Given the description of an element on the screen output the (x, y) to click on. 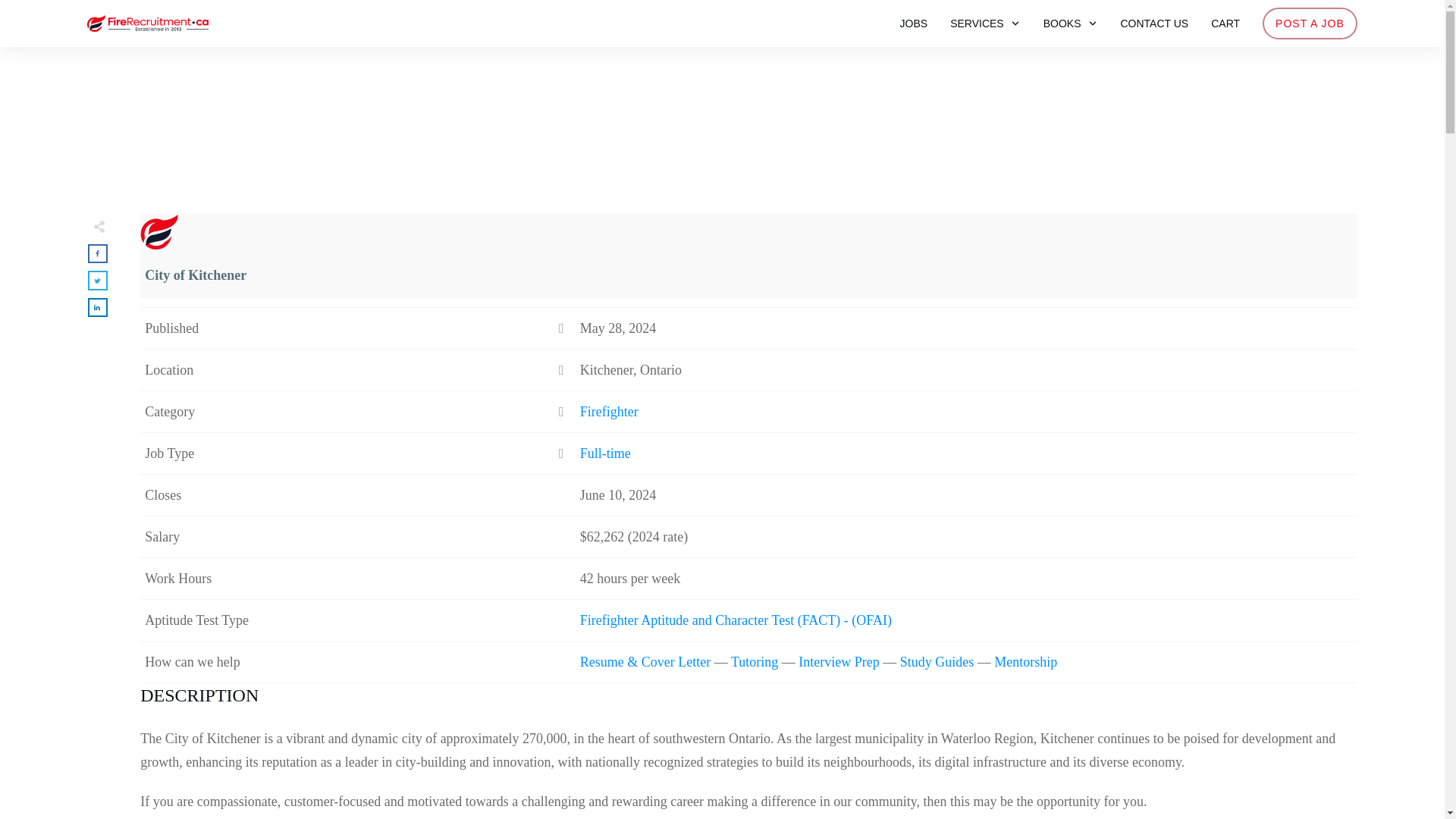
CONTACT US (1155, 23)
Mentorship (1025, 661)
POST A JOB (1309, 23)
Tutoring (753, 661)
Study Guides (936, 661)
JOBS (913, 23)
BOOKS (1070, 23)
CART (1225, 23)
Interview Prep (838, 661)
Firefighter (609, 410)
